Given the description of an element on the screen output the (x, y) to click on. 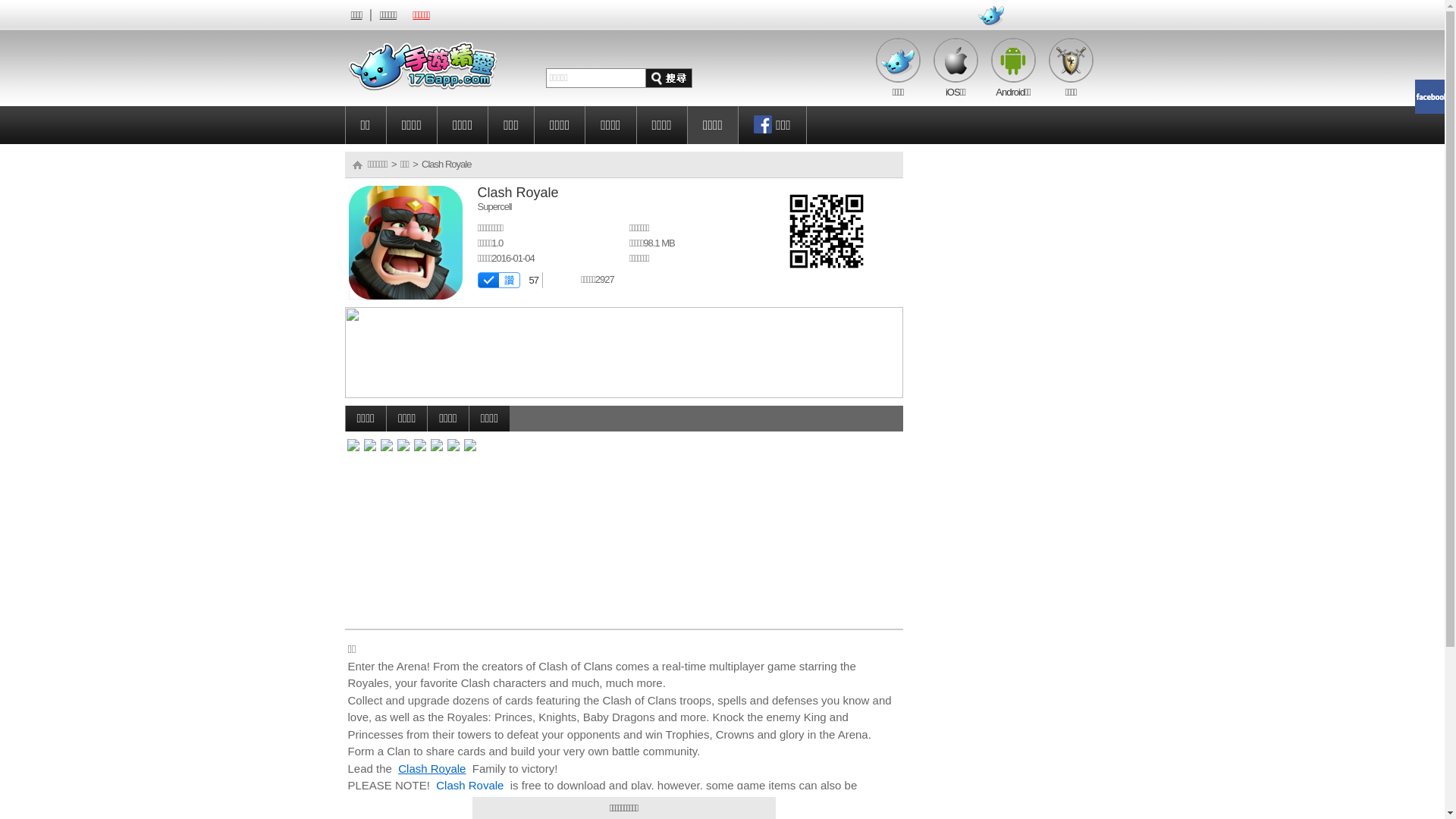
Clash Royale Element type: text (469, 784)
Clash Royale Element type: text (431, 767)
